Given the description of an element on the screen output the (x, y) to click on. 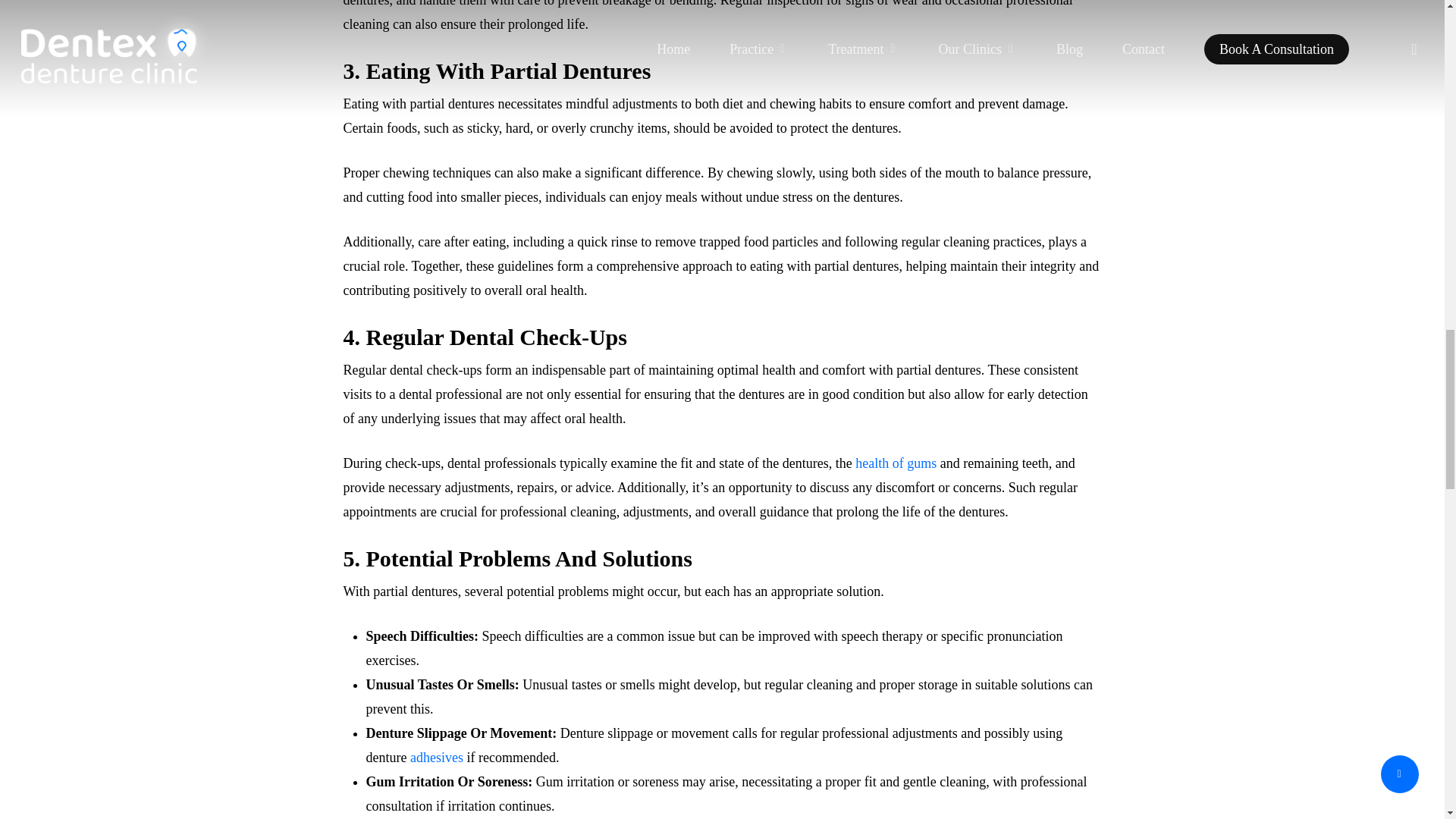
health of gums (896, 462)
adhesives (436, 757)
